Given the description of an element on the screen output the (x, y) to click on. 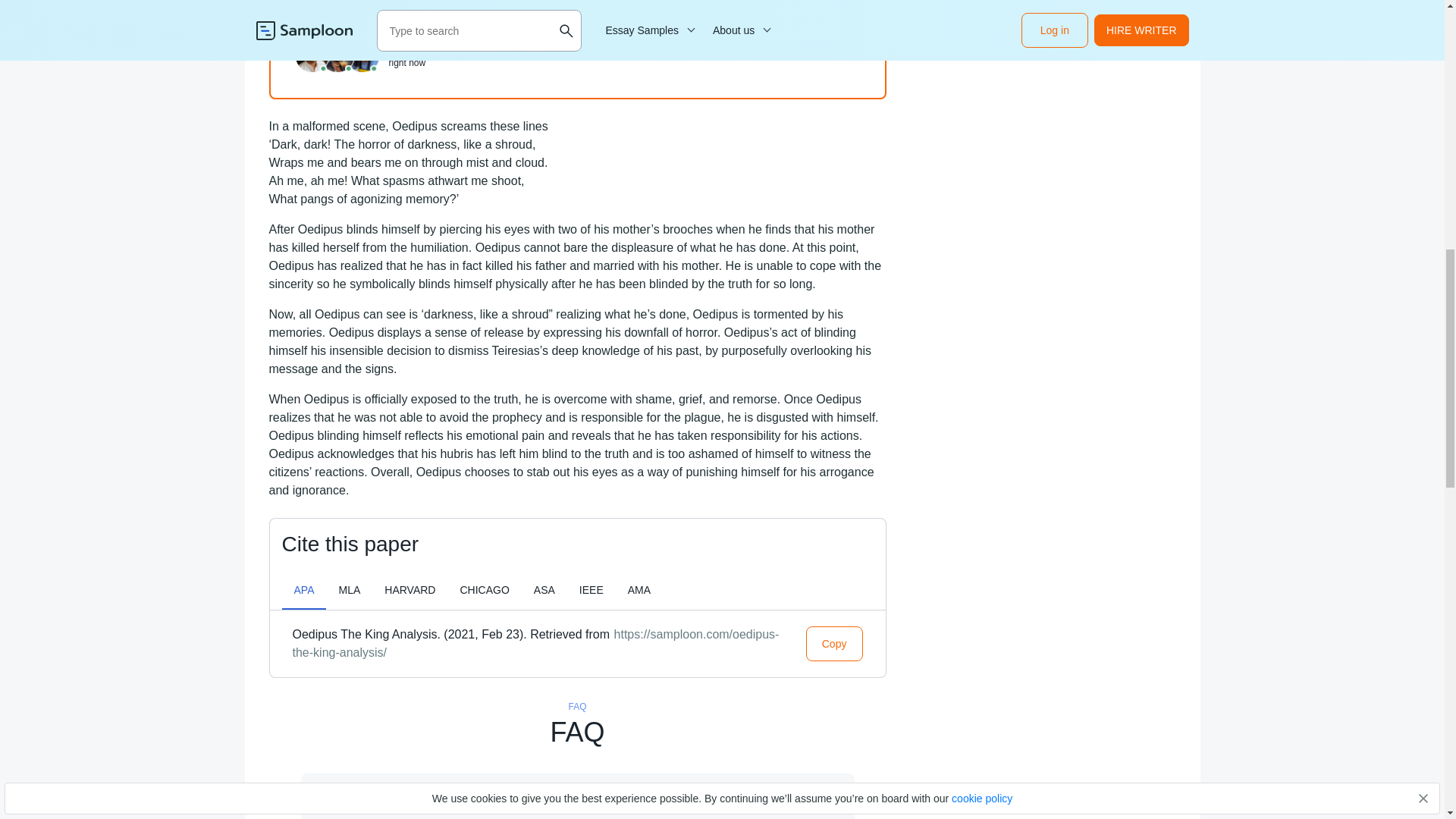
HARVARD (409, 589)
CHICAGO (483, 589)
MLA (349, 589)
APA (304, 589)
